Given the description of an element on the screen output the (x, y) to click on. 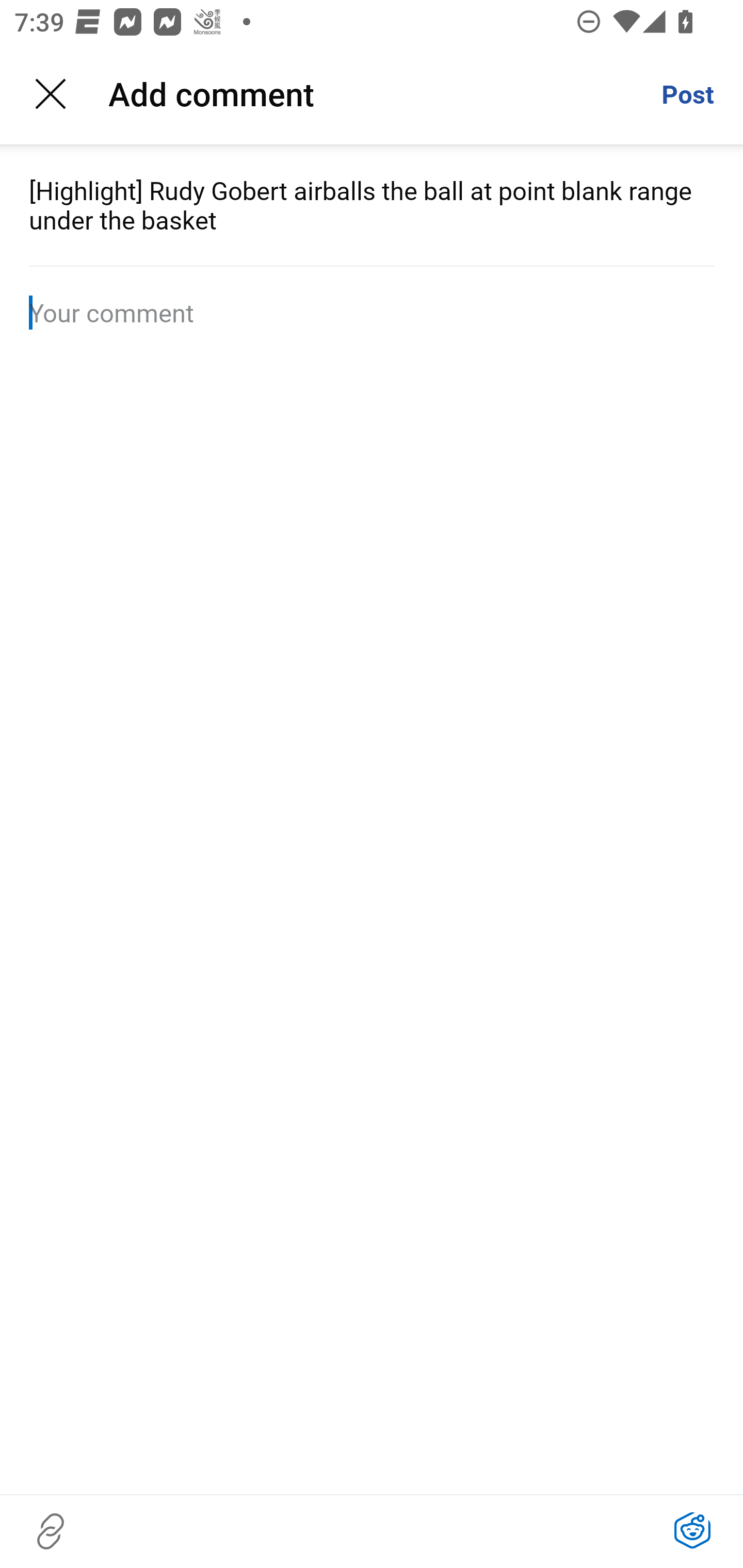
Close (50, 93)
Post (687, 94)
Your comment (371, 312)
Insert a link (50, 1530)
Show Expressions (692, 1530)
